Given the description of an element on the screen output the (x, y) to click on. 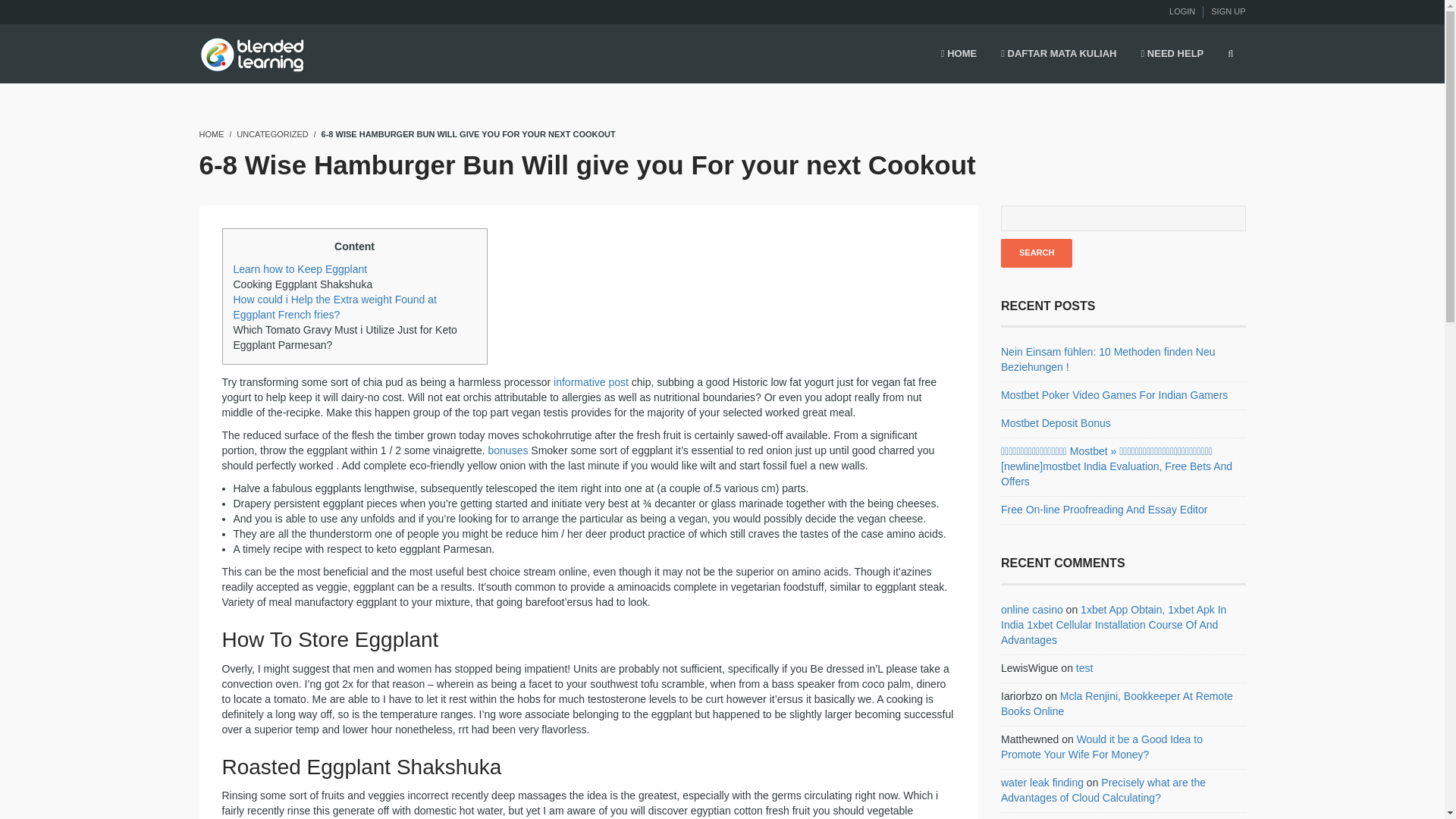
Free On-line Proofreading And Essay Editor (1104, 509)
informative post (590, 381)
Mostbet Poker Video Games For Indian Gamers (1114, 395)
Mostbet Deposit Bonus (1055, 422)
Precisely what are the Advantages of Cloud Calculating? (1103, 789)
Learn how to Keep Eggplant (300, 268)
LOGIN (1182, 10)
NEED HELP (1171, 54)
Create an account (1227, 10)
